Given the description of an element on the screen output the (x, y) to click on. 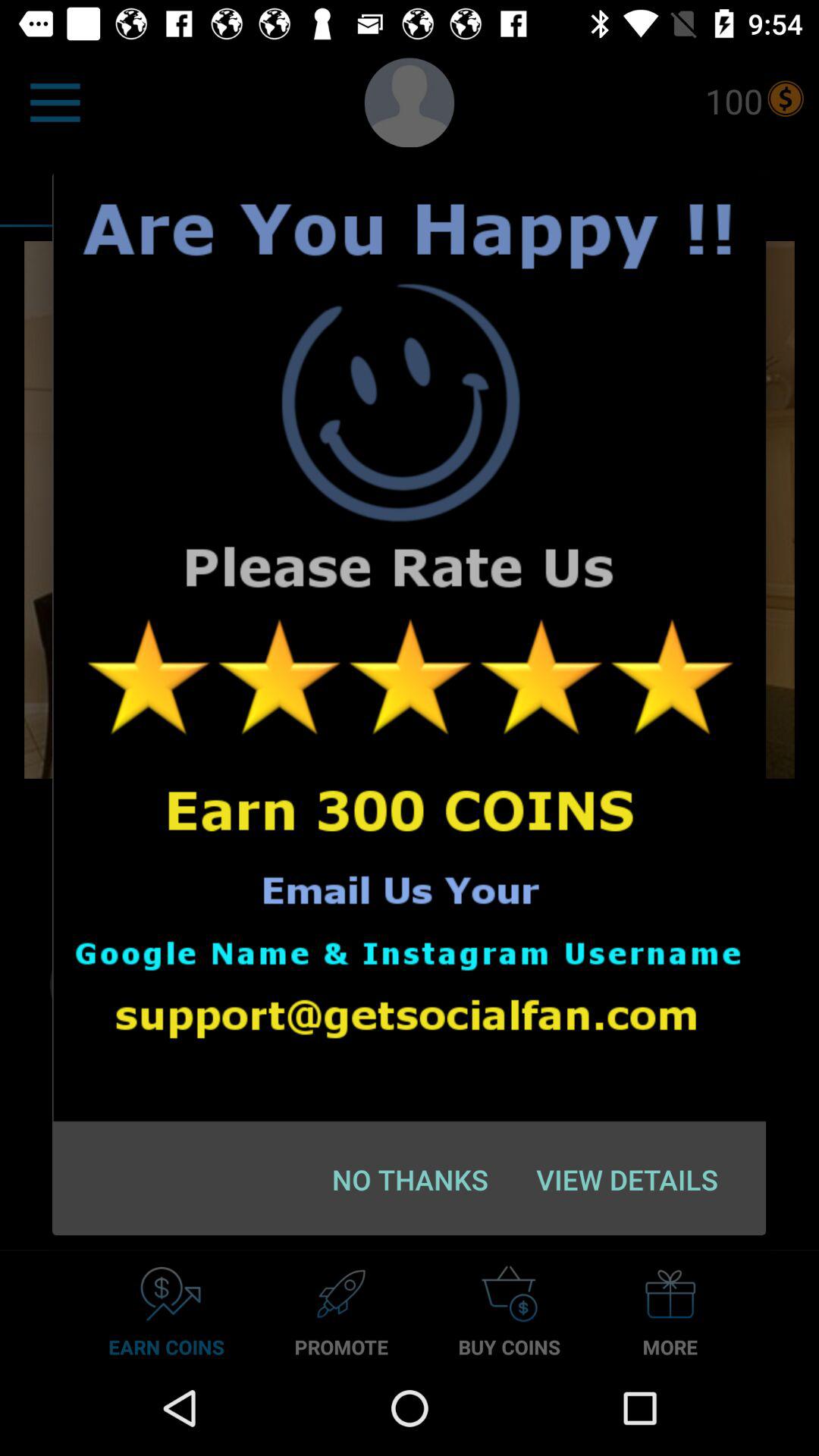
press the icon next to the no thanks item (627, 1179)
